Given the description of an element on the screen output the (x, y) to click on. 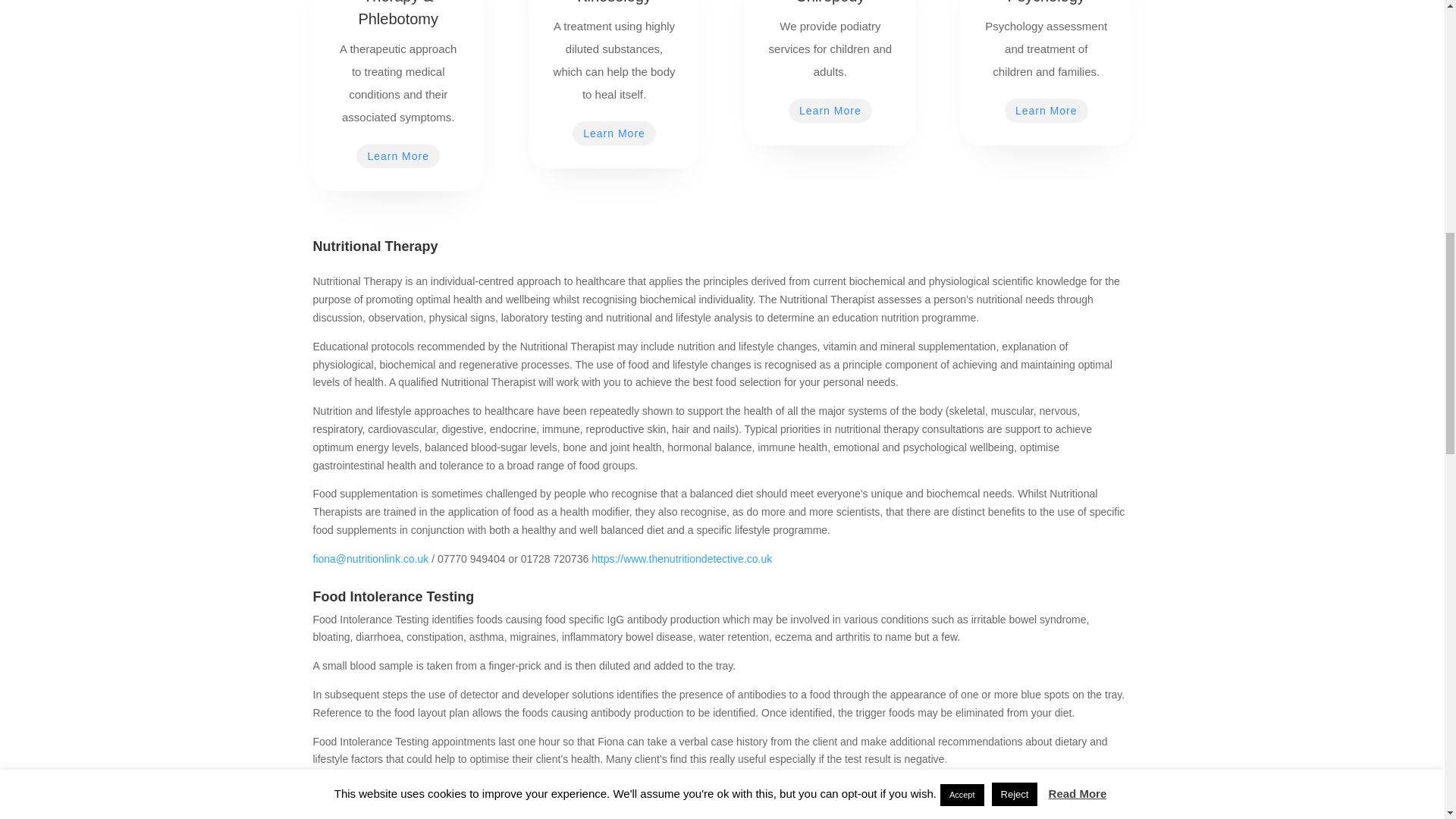
Learn More (1045, 110)
Learn More (397, 156)
Learn More (614, 133)
Learn More (830, 110)
